Given the description of an element on the screen output the (x, y) to click on. 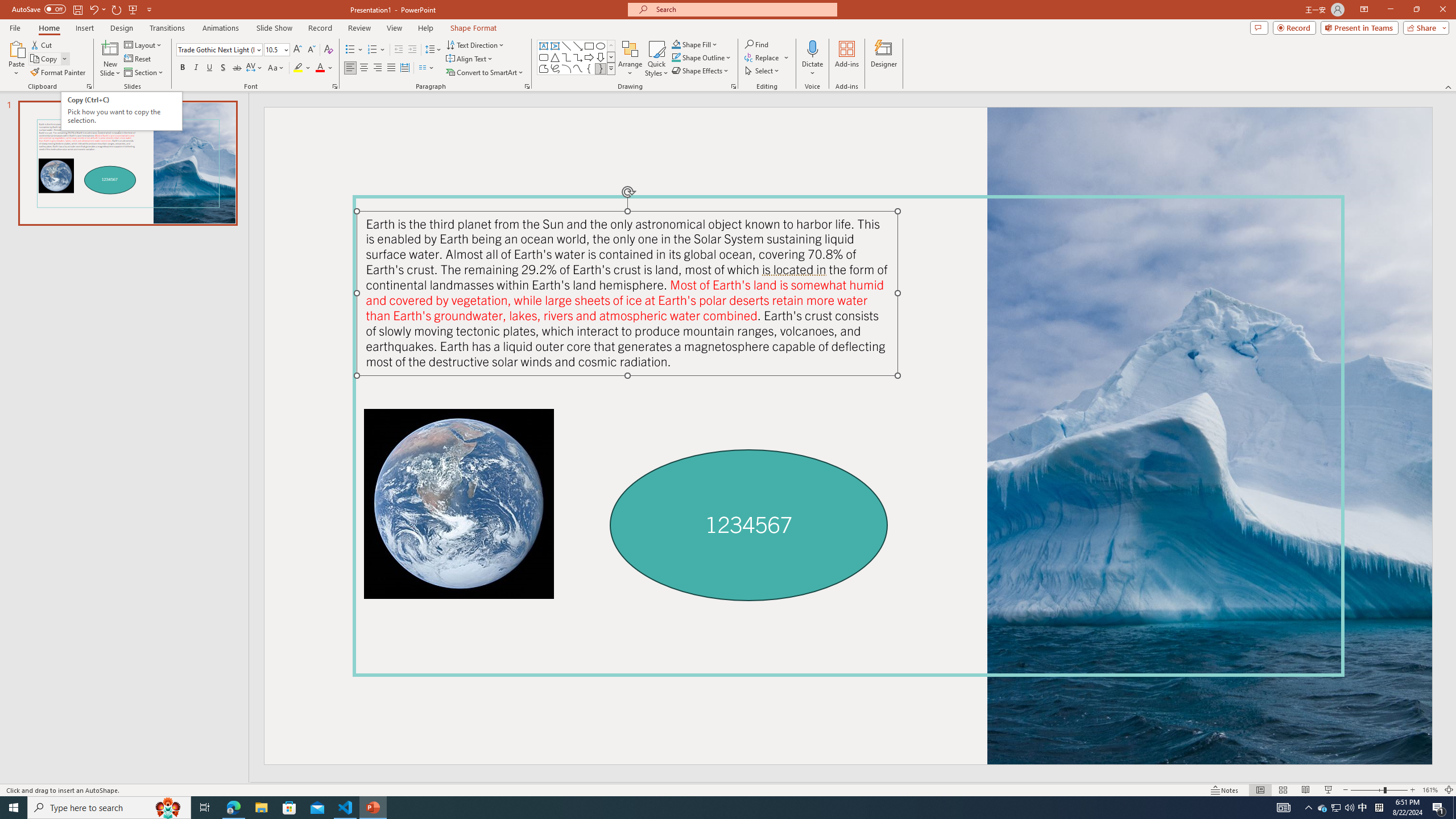
Zoom 161% (1430, 790)
